Given the description of an element on the screen output the (x, y) to click on. 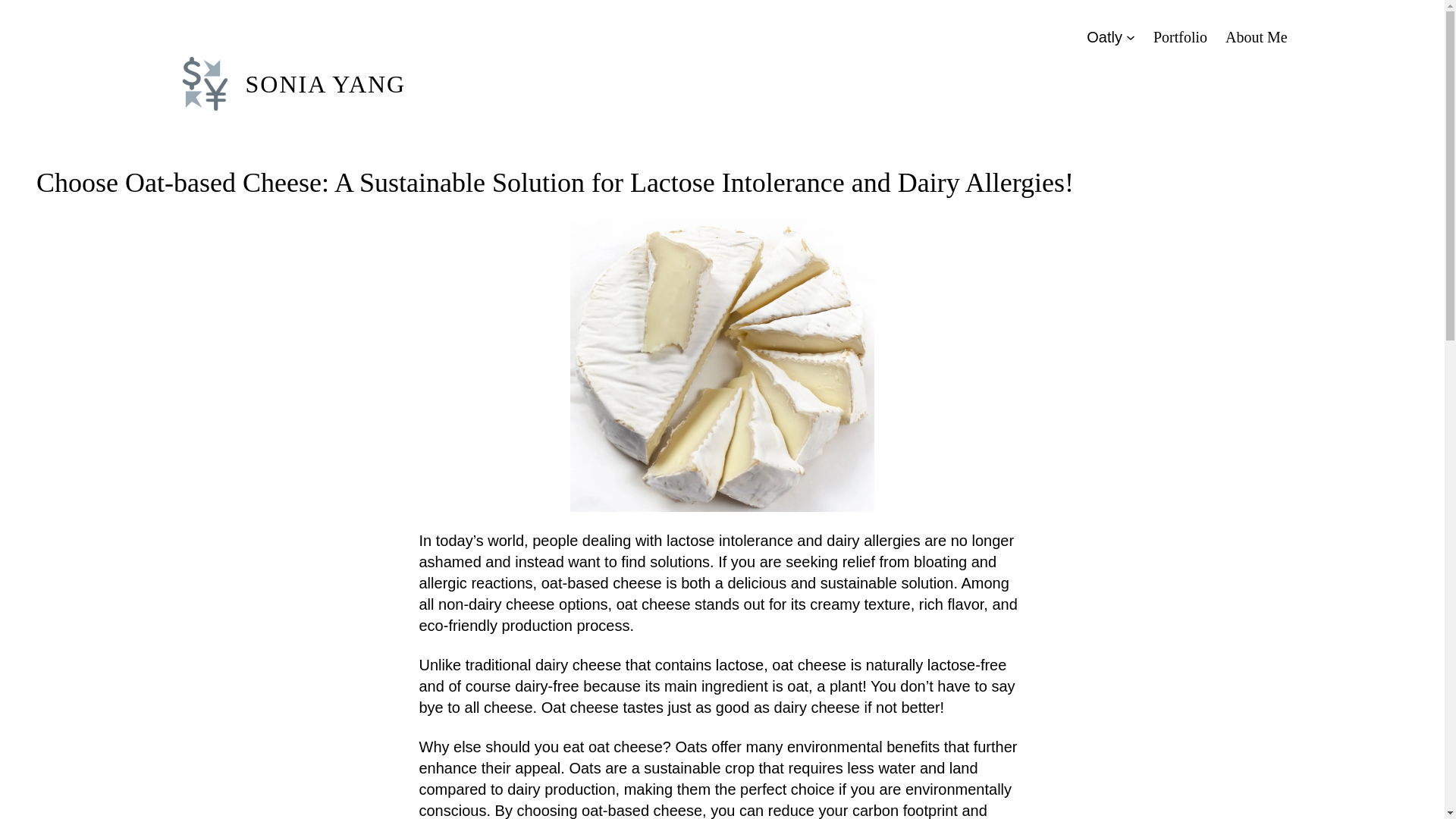
Oatly (1104, 36)
SONIA YANG (326, 83)
About Me (1256, 36)
Portfolio (1180, 36)
